Given the description of an element on the screen output the (x, y) to click on. 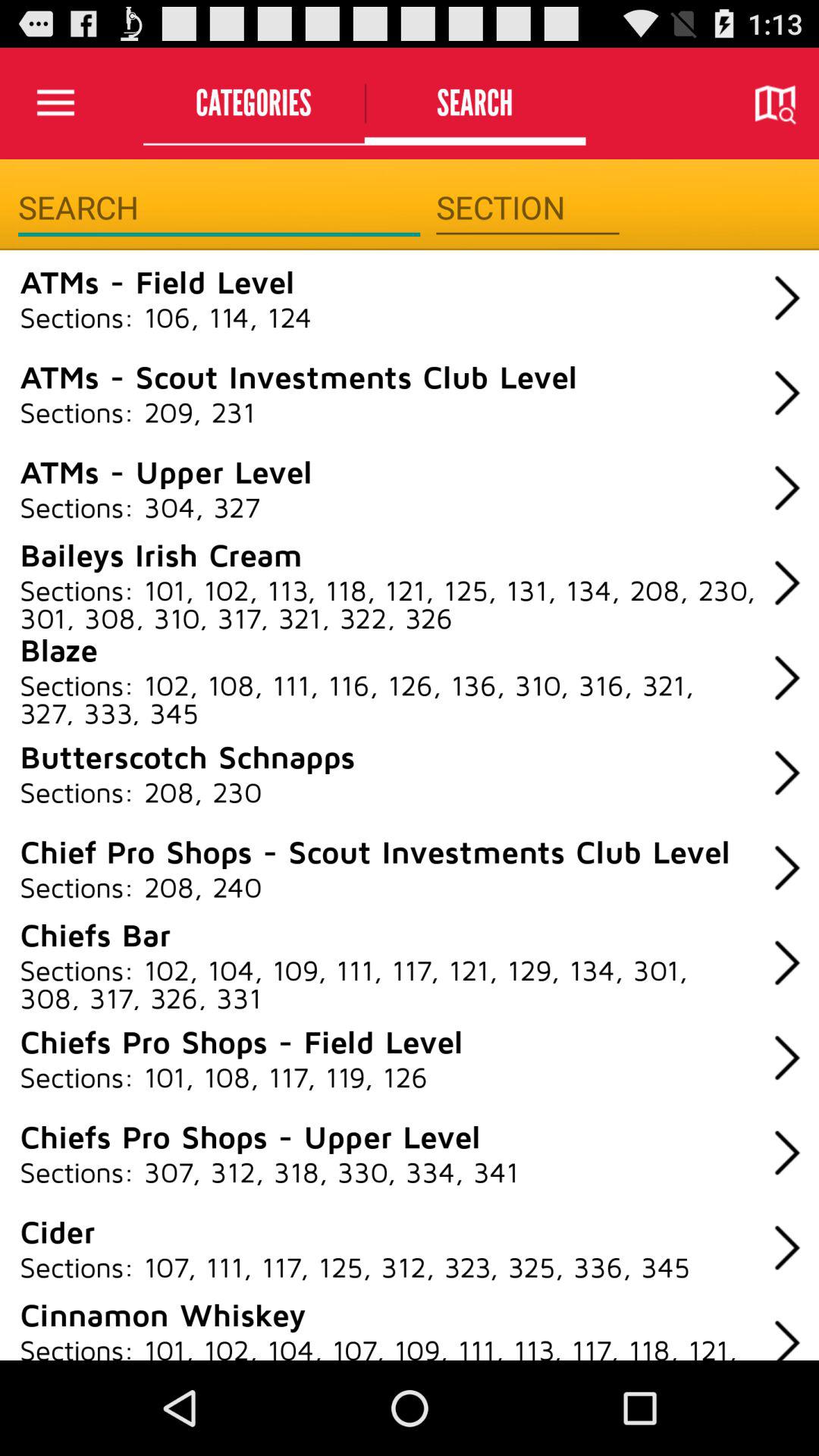
enter search term (219, 207)
